Given the description of an element on the screen output the (x, y) to click on. 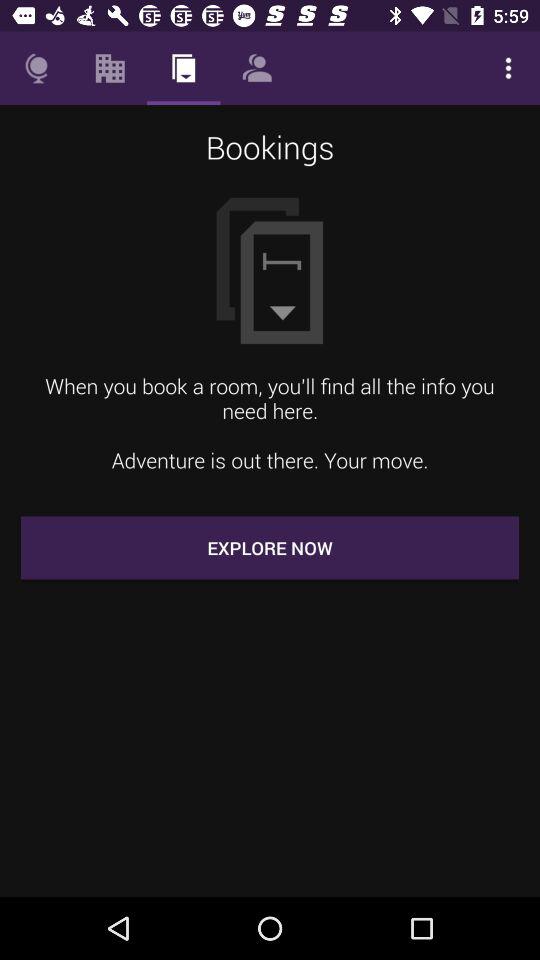
turn off item at the top right corner (508, 67)
